Given the description of an element on the screen output the (x, y) to click on. 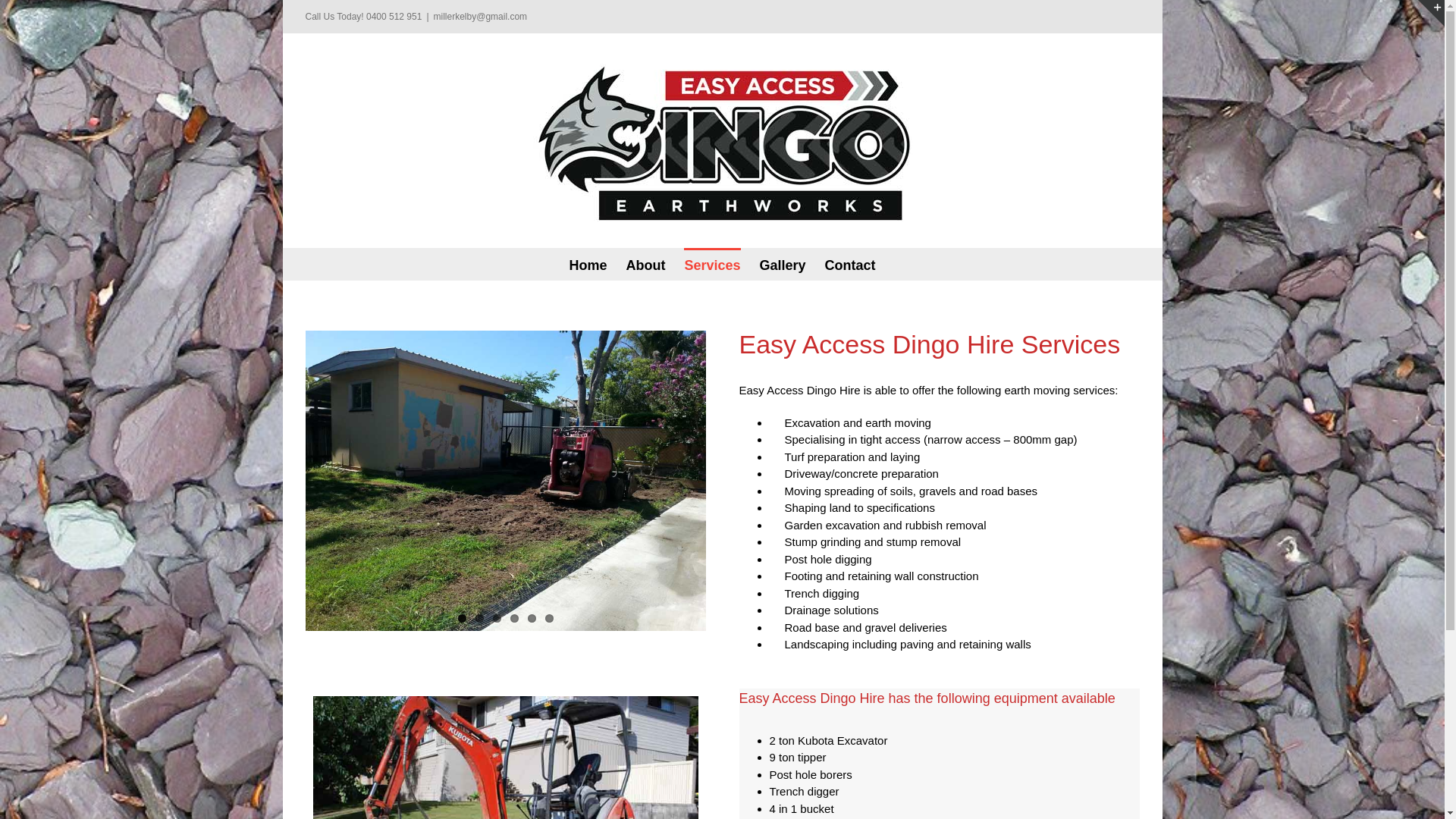
2 Element type: text (478, 618)
Gallery Element type: text (782, 263)
About Element type: text (645, 263)
6 Element type: text (548, 618)
Contact Element type: text (850, 263)
Home Element type: text (587, 263)
3 Element type: text (496, 618)
Services Element type: text (712, 263)
4 Element type: text (513, 618)
5 Element type: text (531, 618)
1 Element type: text (462, 618)
millerkelby@gmail.com Element type: text (480, 16)
